Given the description of an element on the screen output the (x, y) to click on. 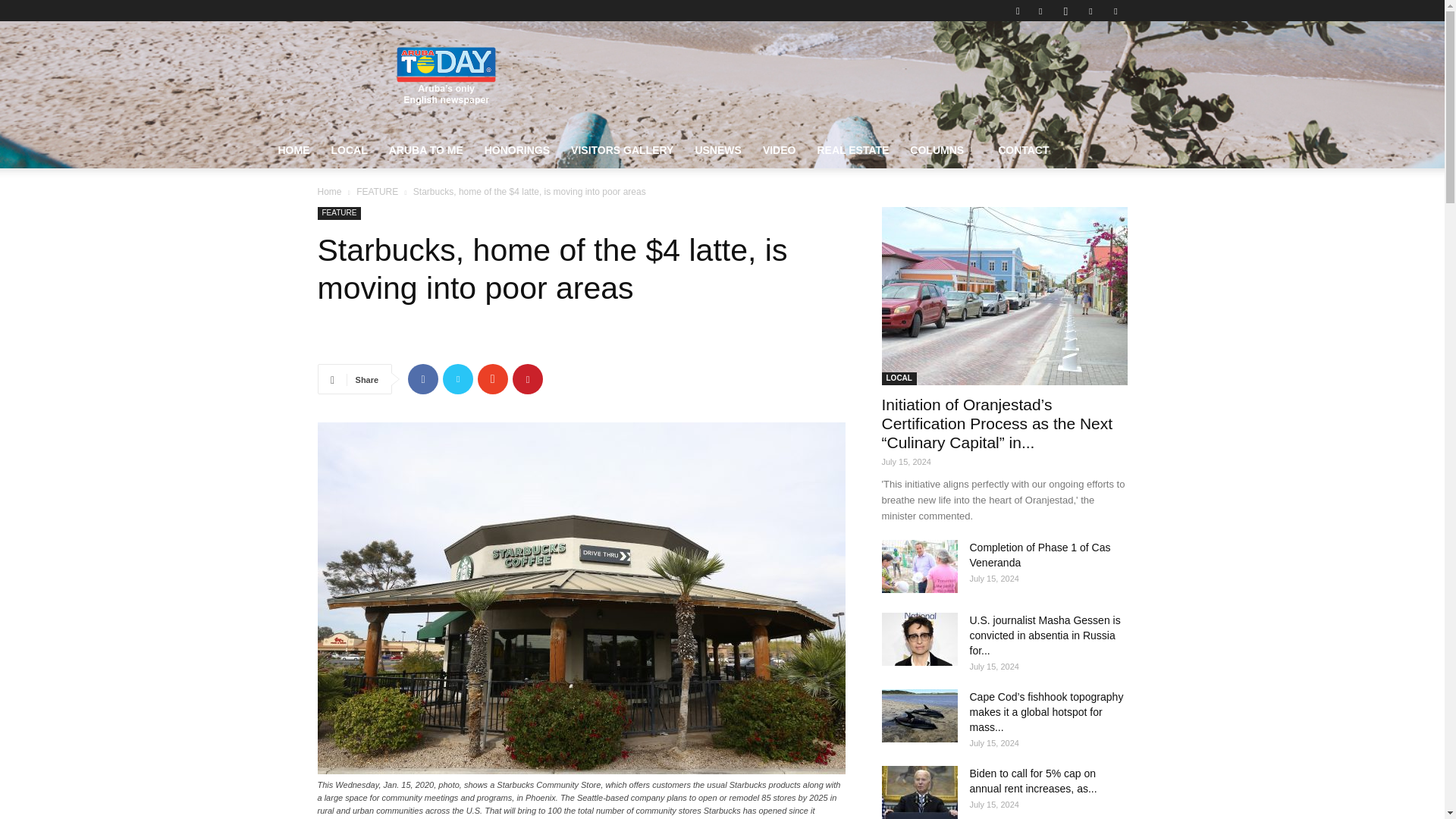
VISITORS GALLERY (622, 149)
Instagram (1065, 10)
Mail (1090, 10)
HONORINGS (517, 149)
ARUBA TO ME (426, 149)
View all posts in FEATURE (376, 191)
Search (1085, 64)
HOME (293, 149)
Facebook (1040, 10)
VIDEO (779, 149)
USNEWS (717, 149)
LOCAL (348, 149)
Youtube (1114, 10)
